Given the description of an element on the screen output the (x, y) to click on. 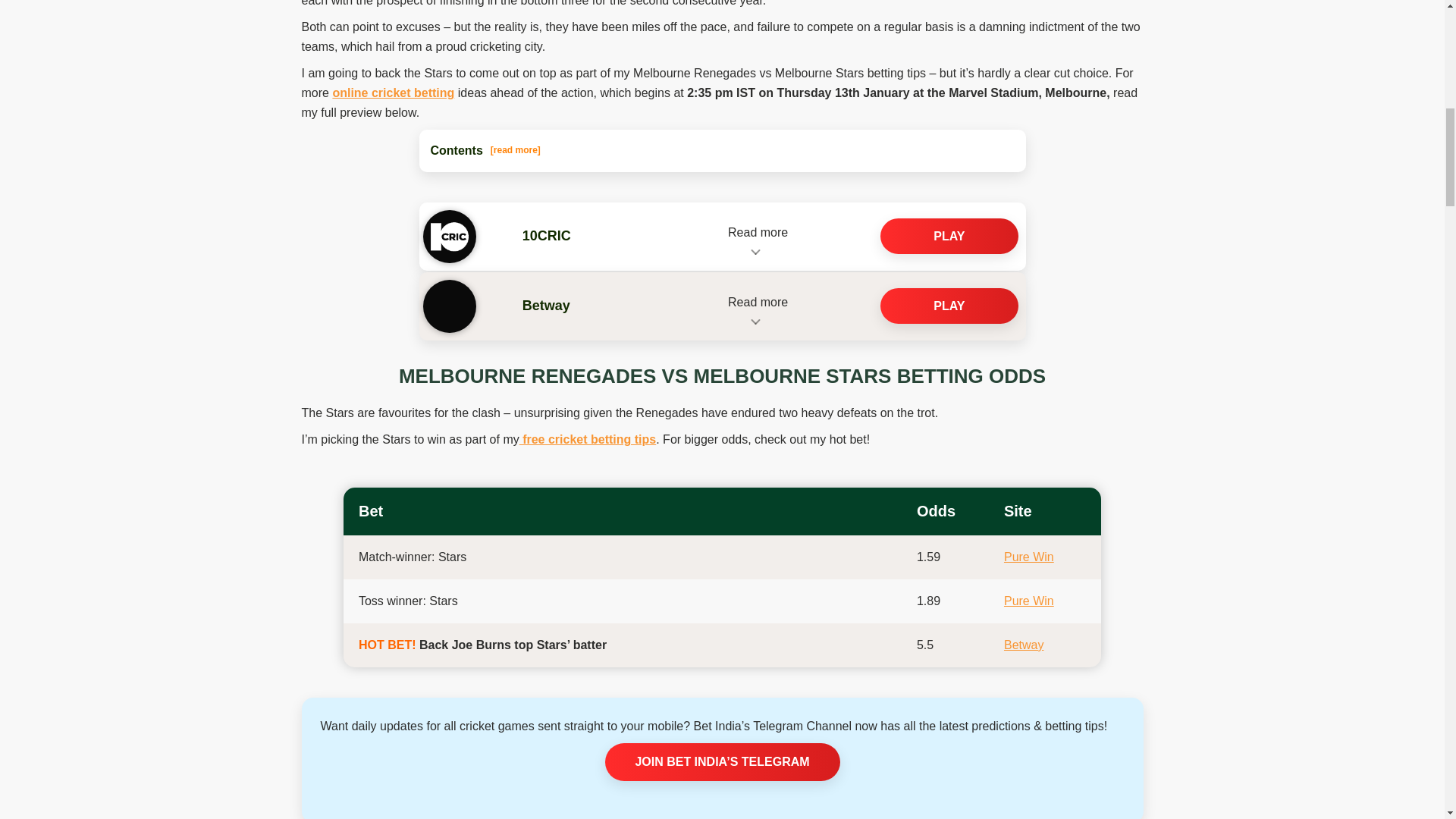
online cricket betting (392, 92)
